Given the description of an element on the screen output the (x, y) to click on. 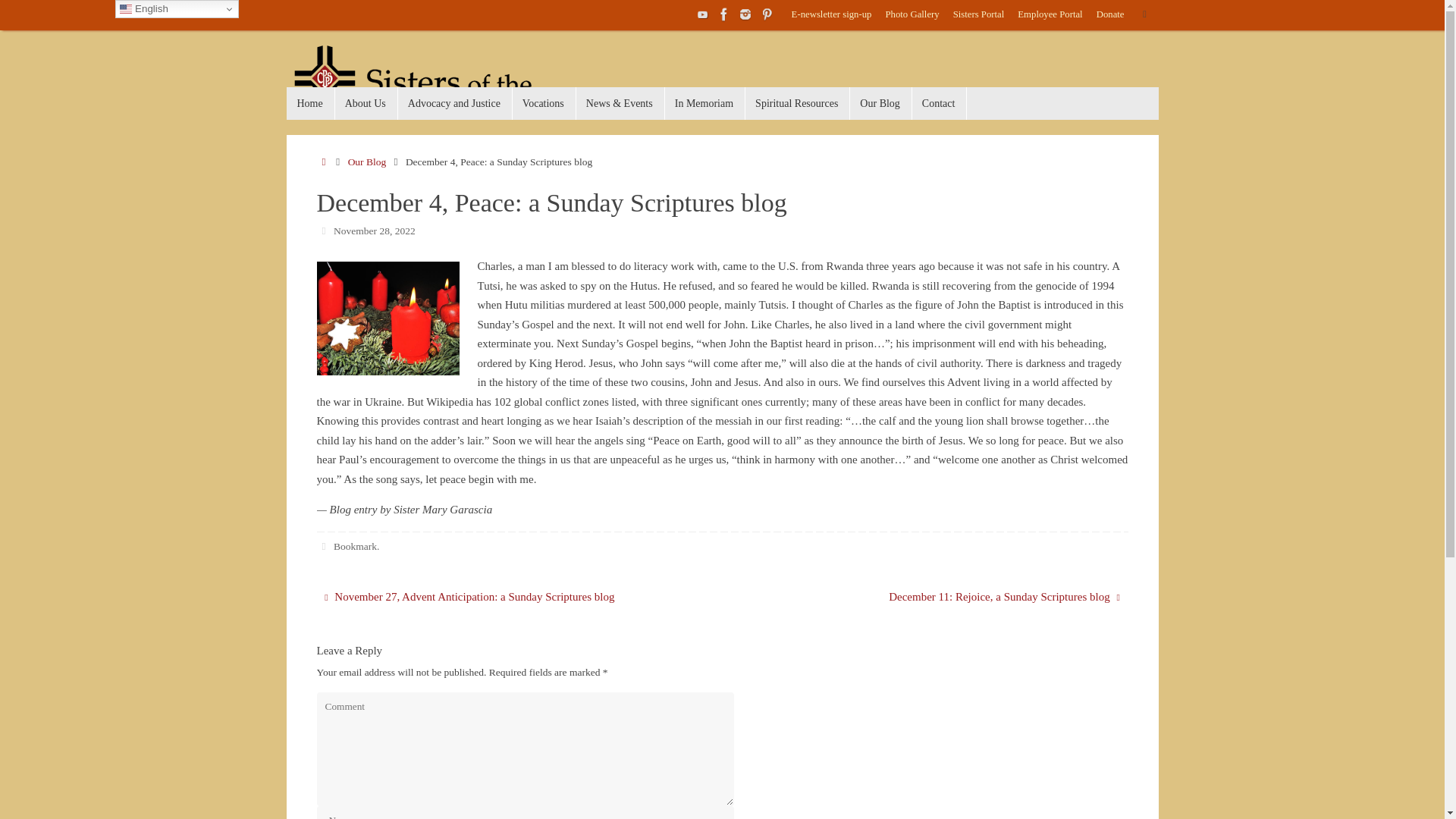
YouTube (703, 14)
Permalink to December 4, Peace: a Sunday Scriptures blog (355, 546)
Search (1145, 14)
Donate (1109, 15)
Bookmark (355, 546)
Advocacy and Justice (454, 102)
Home (310, 102)
Spiritual Resources (796, 102)
Instagram (745, 14)
Date (324, 229)
E-newsletter sign-up (832, 15)
Facebook (724, 14)
 Bookmark the permalink (324, 546)
